Given the description of an element on the screen output the (x, y) to click on. 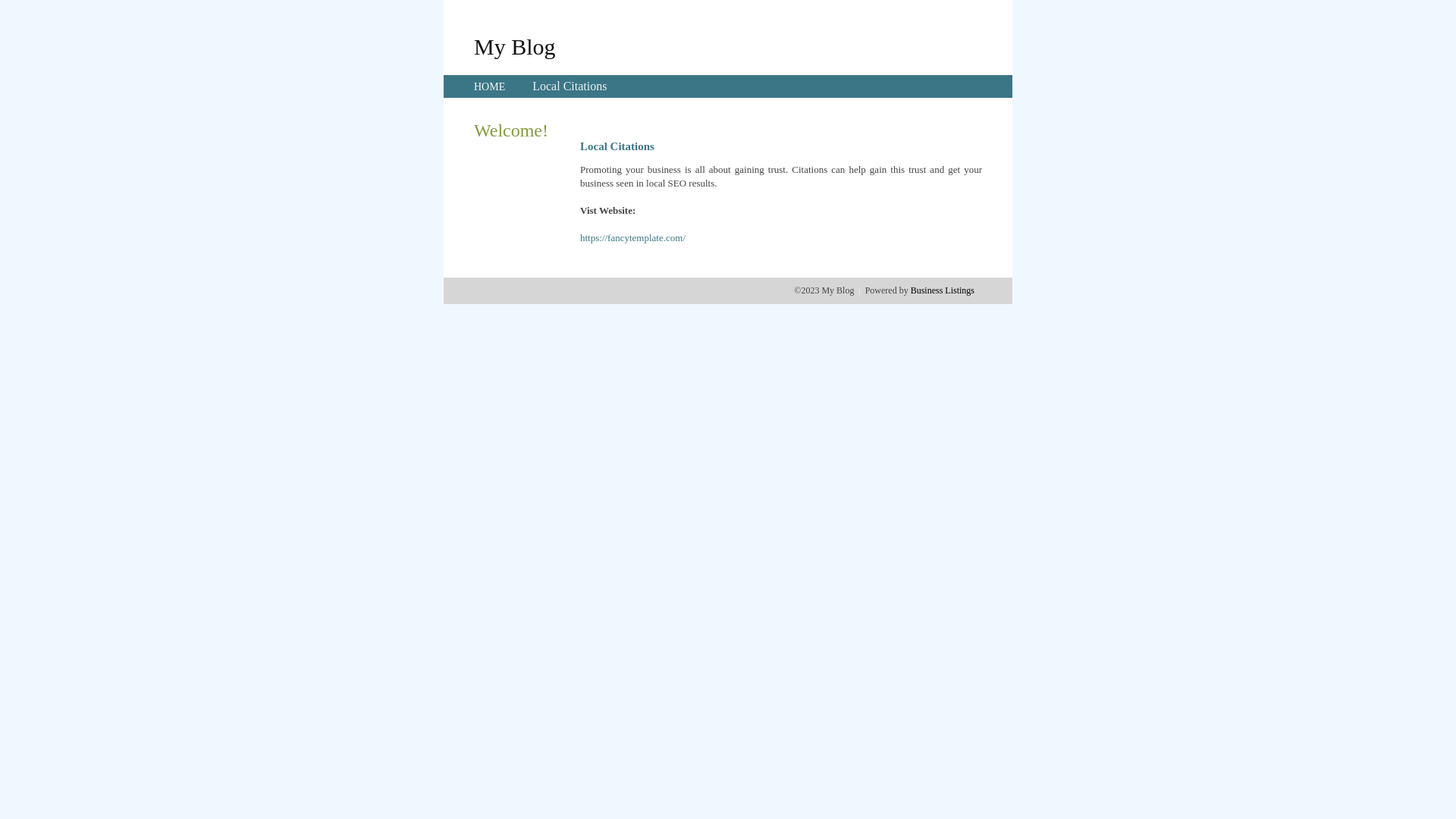
Business Listings Element type: text (942, 290)
Local Citations Element type: text (569, 85)
My Blog Element type: text (514, 46)
HOME Element type: text (489, 86)
https://fancytemplate.com/ Element type: text (632, 237)
